Given the description of an element on the screen output the (x, y) to click on. 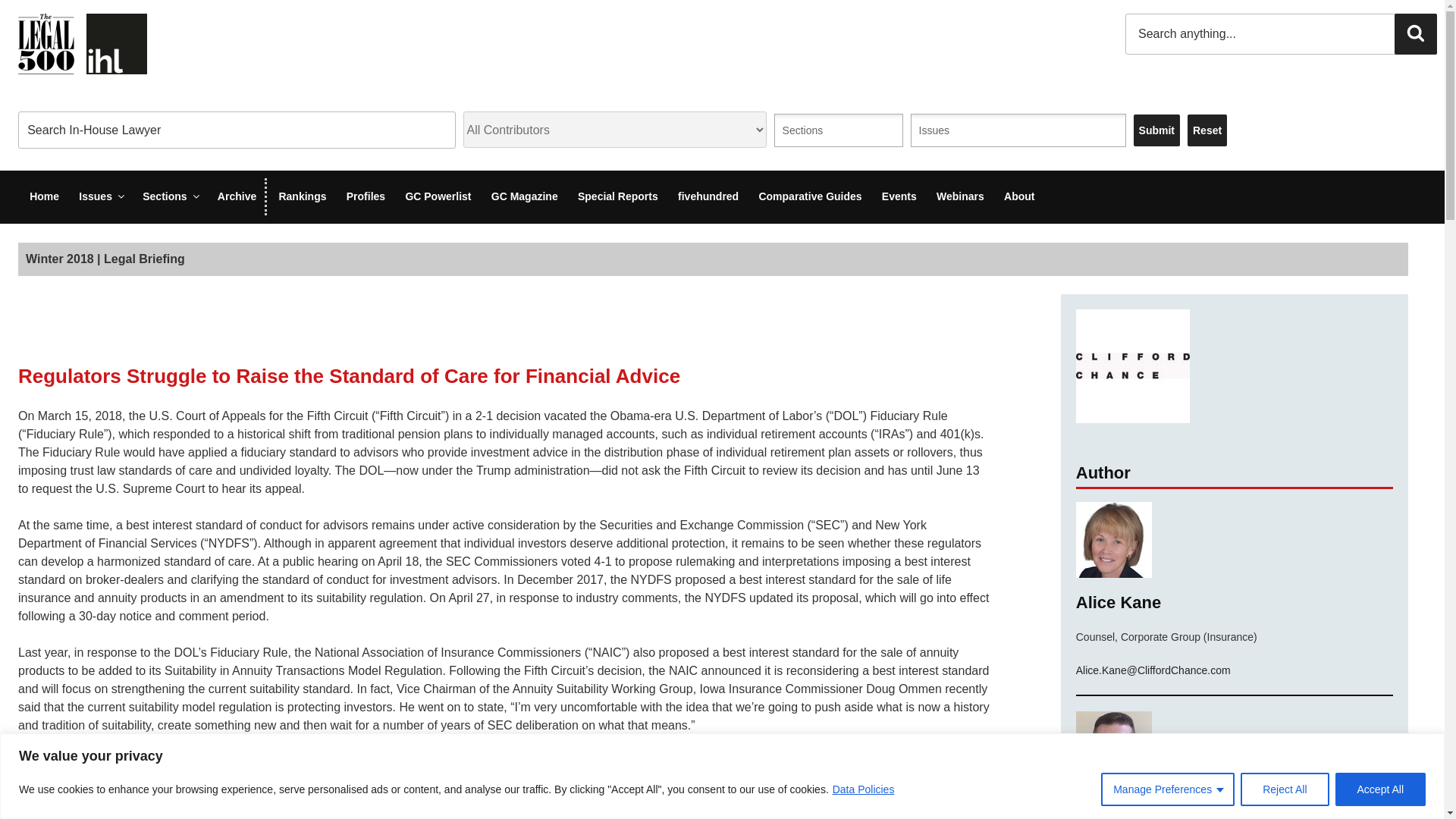
Manage Preferences (1167, 788)
Sections (812, 130)
Issues (100, 196)
Reset (1207, 129)
Keyword Search (236, 129)
Issues (943, 130)
Sections (169, 196)
Reset (1207, 129)
Submit (1156, 129)
